Given the description of an element on the screen output the (x, y) to click on. 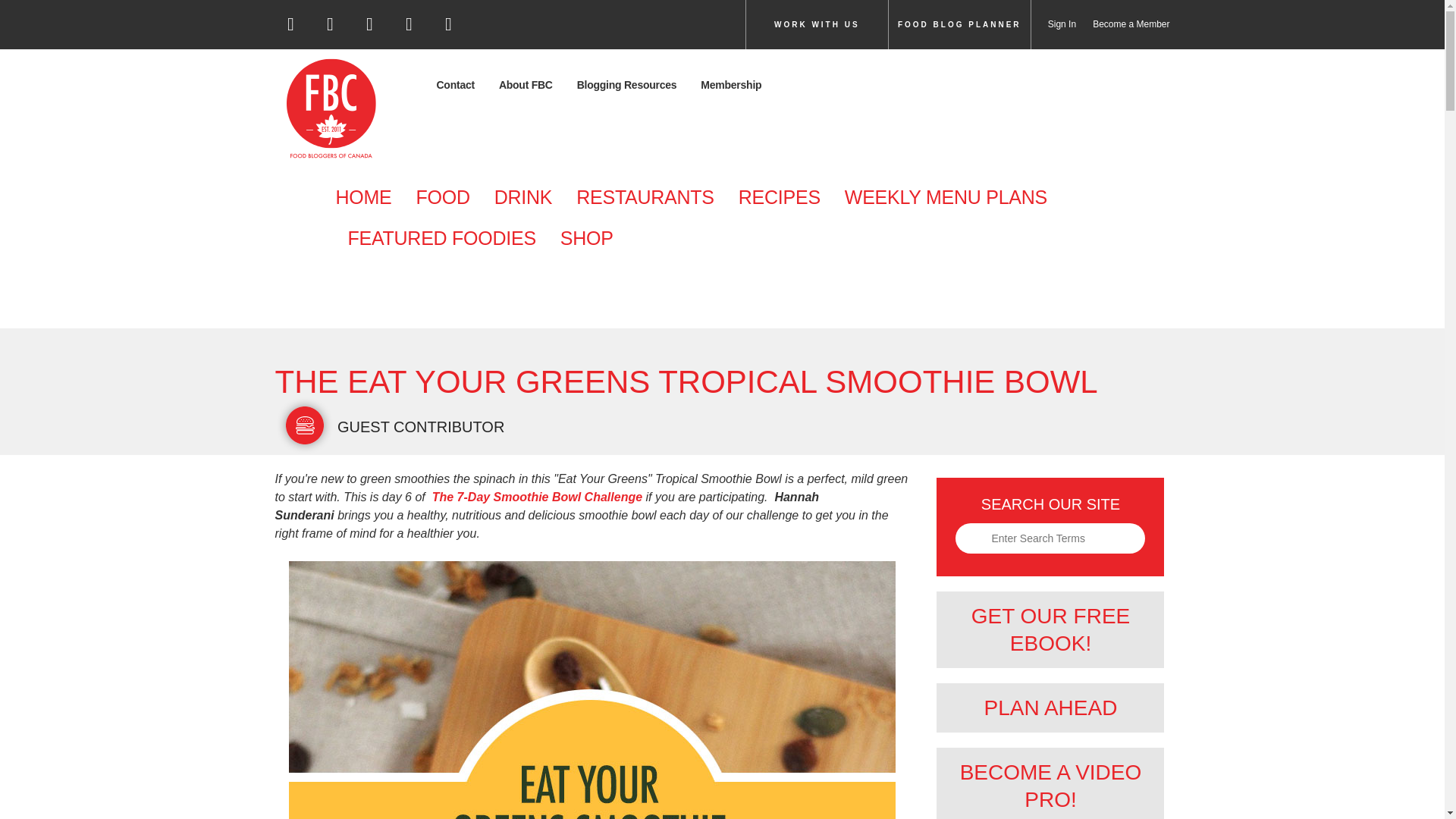
Blogging Resources (626, 84)
Twitter (329, 24)
Pinterest (409, 24)
Facebook (291, 28)
YouTube (449, 28)
YouTube (448, 24)
Facebook (290, 24)
WORK WITH US (816, 24)
Sign In (1052, 24)
About FBC (525, 84)
Contact (461, 84)
Instagram (370, 28)
FOOD (442, 197)
Membership (730, 84)
Pinterest (409, 28)
